Given the description of an element on the screen output the (x, y) to click on. 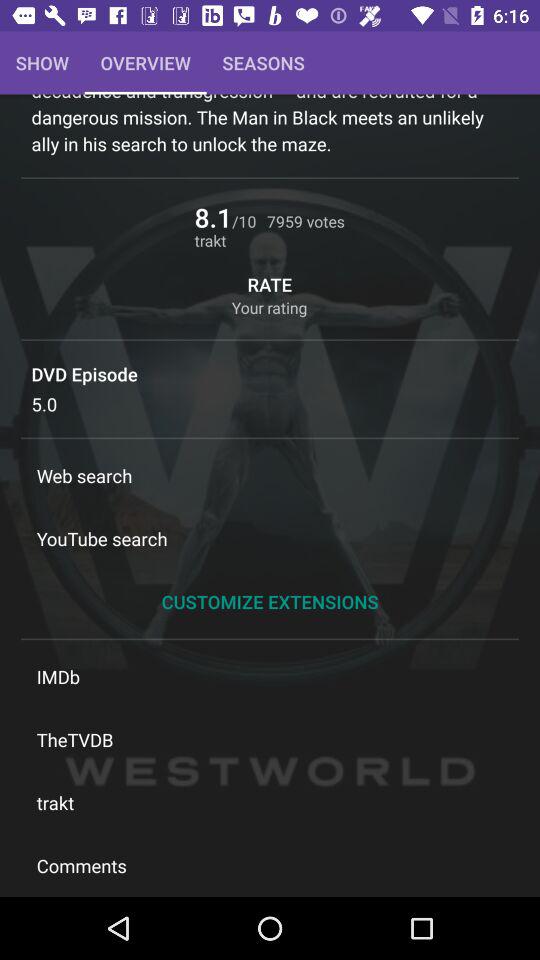
click on option below 50 (269, 475)
